Given the description of an element on the screen output the (x, y) to click on. 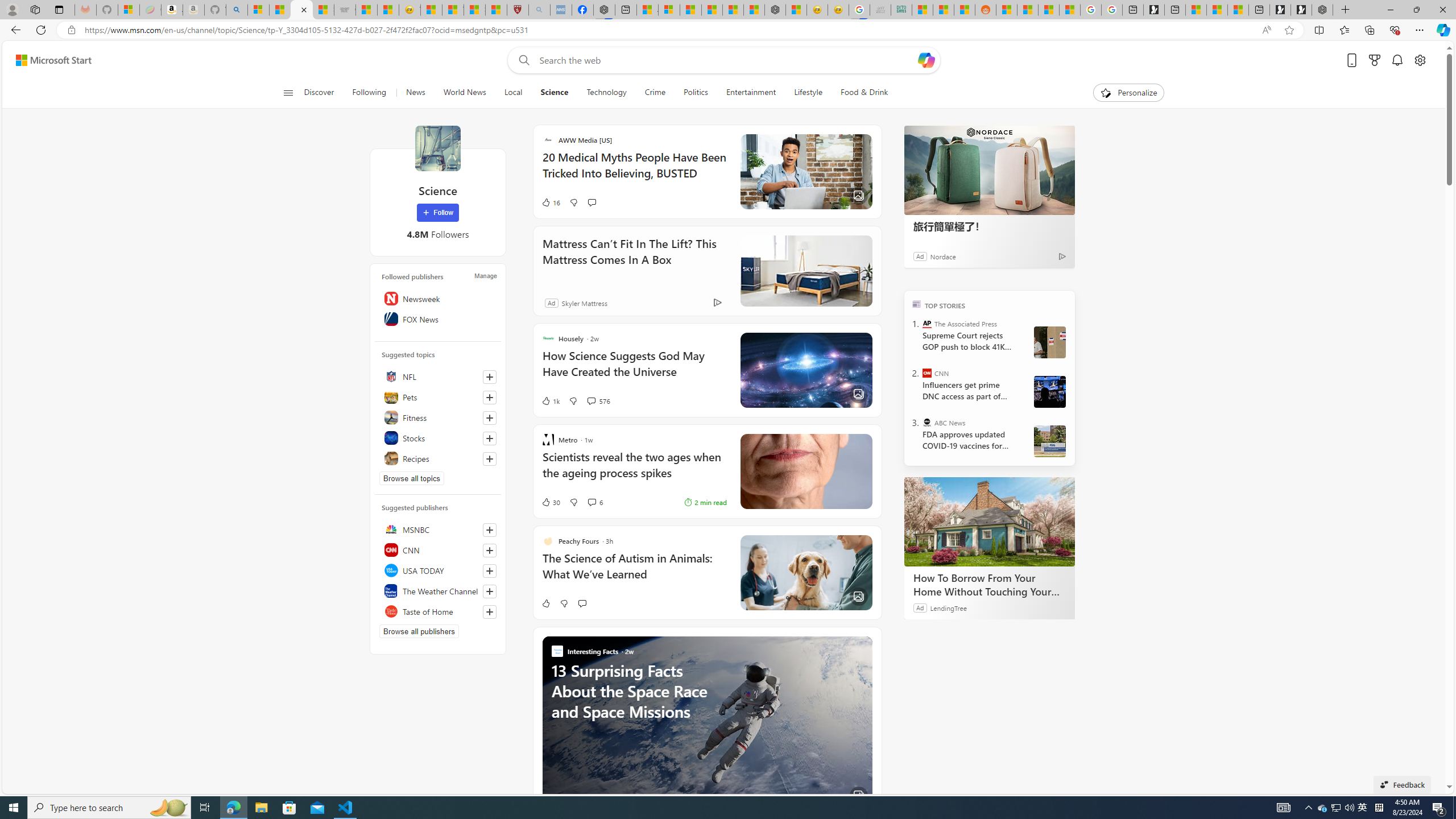
Browse all topics (412, 477)
MSNBC (437, 529)
